Given the description of an element on the screen output the (x, y) to click on. 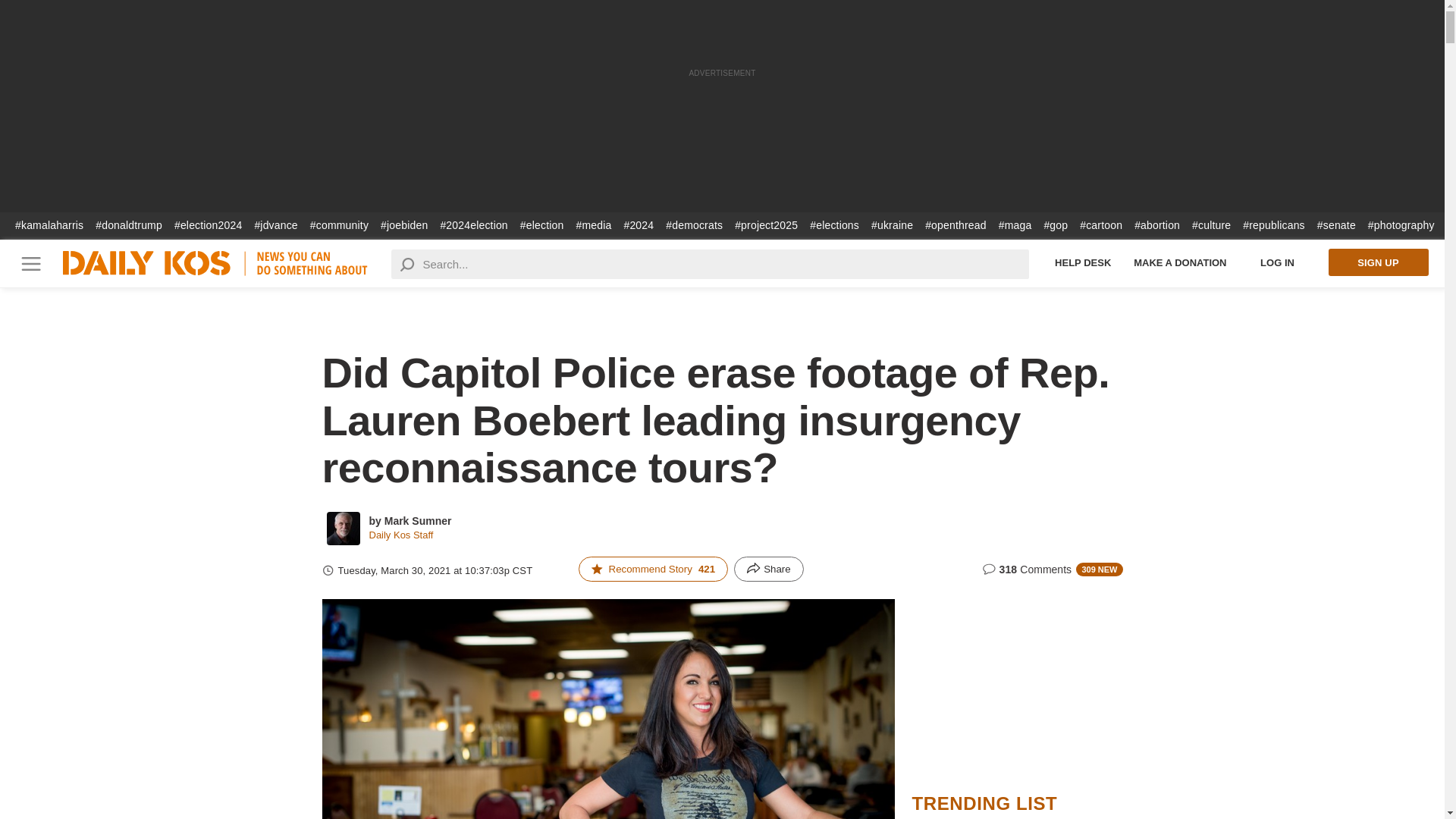
MAKE A DONATION (1179, 262)
Help Desk (1082, 262)
Make a Donation (1179, 262)
